Given the description of an element on the screen output the (x, y) to click on. 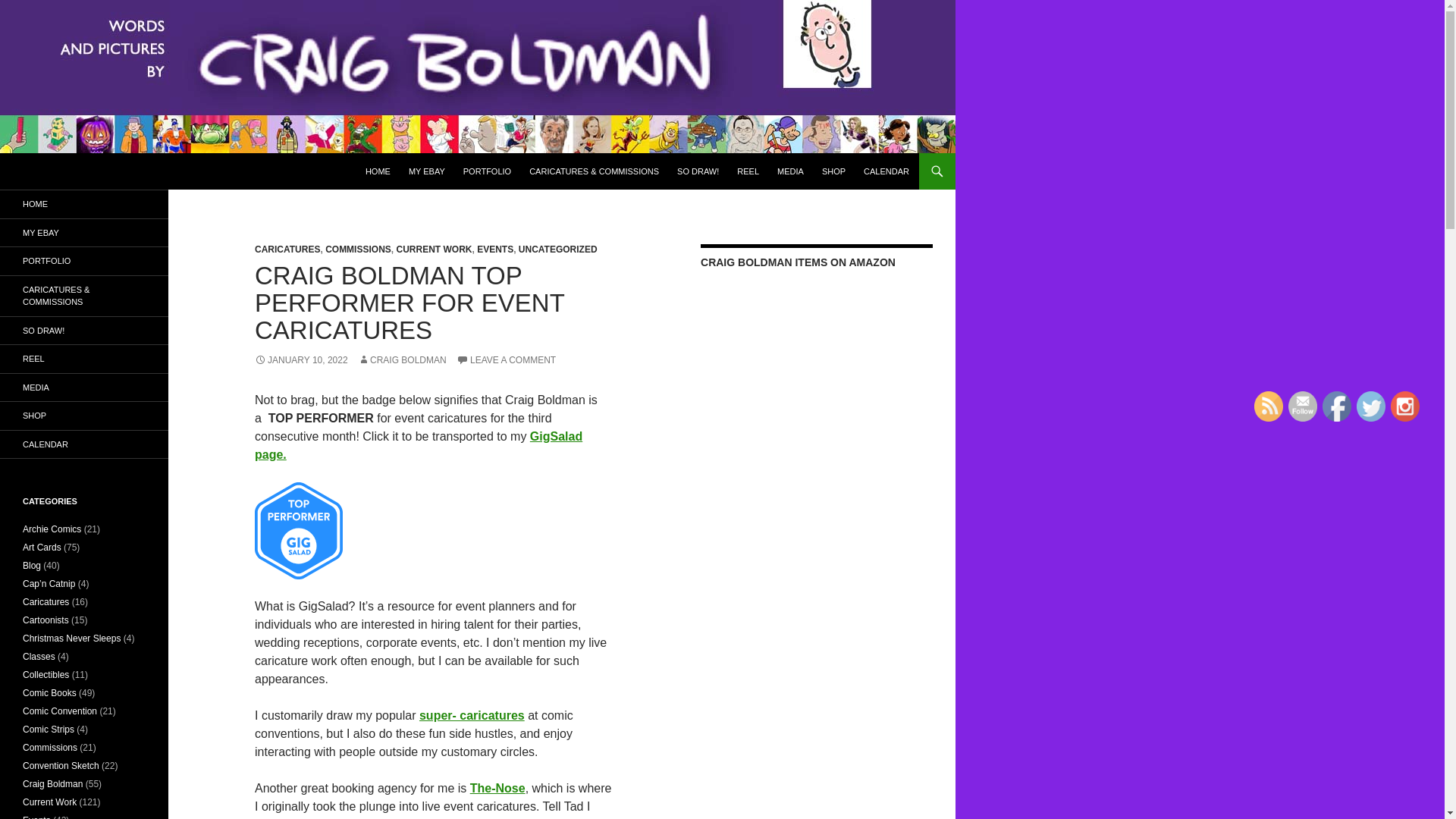
Follow by Email (1302, 406)
EVENTS (495, 249)
Instagram (1404, 406)
LEAVE A COMMENT (506, 359)
CALENDAR (886, 171)
PORTFOLIO (486, 171)
COMMISSIONS (357, 249)
CRAIG BOLDMAN (402, 359)
